Given the description of an element on the screen output the (x, y) to click on. 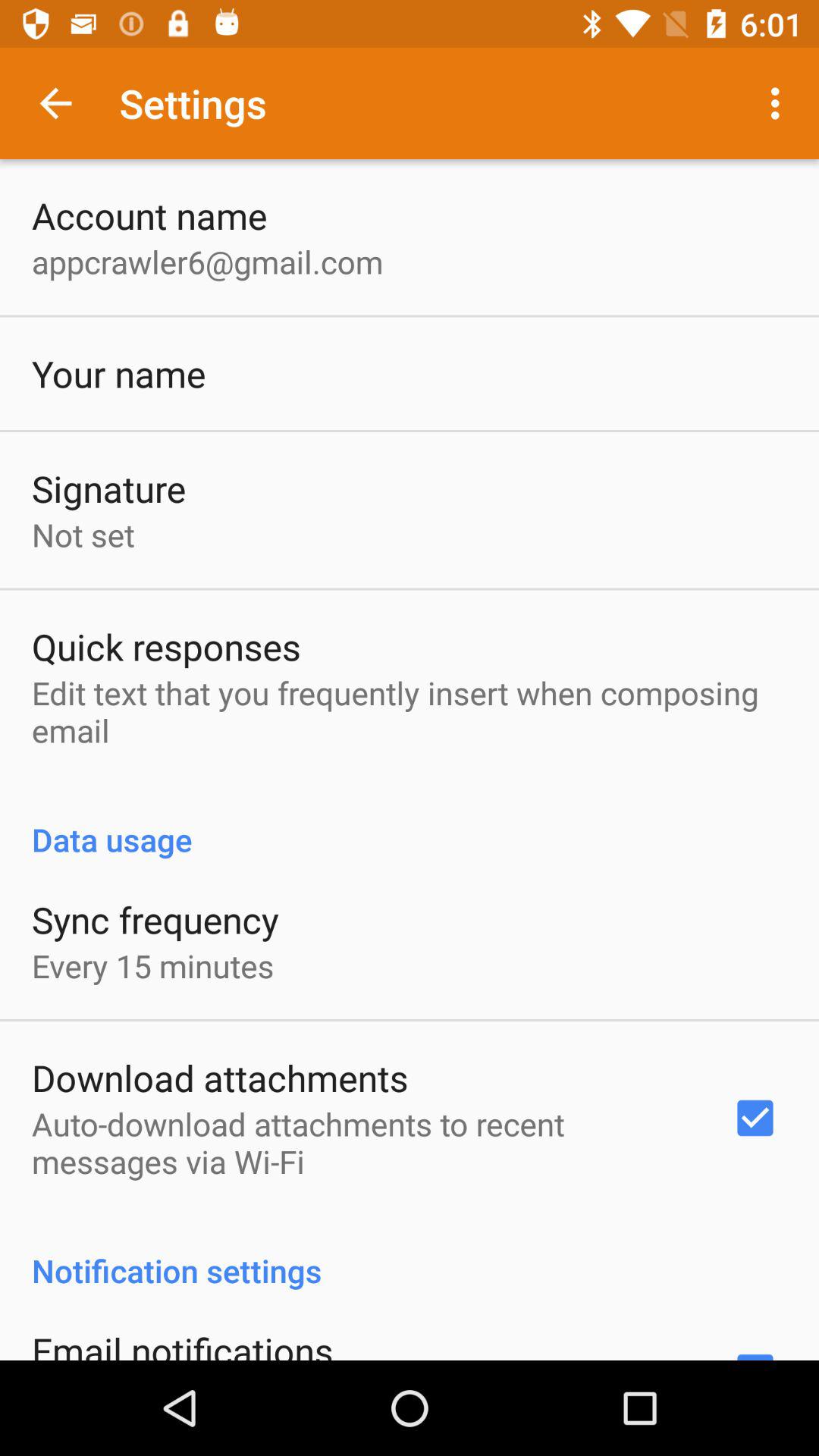
click item above sync frequency (409, 823)
